Given the description of an element on the screen output the (x, y) to click on. 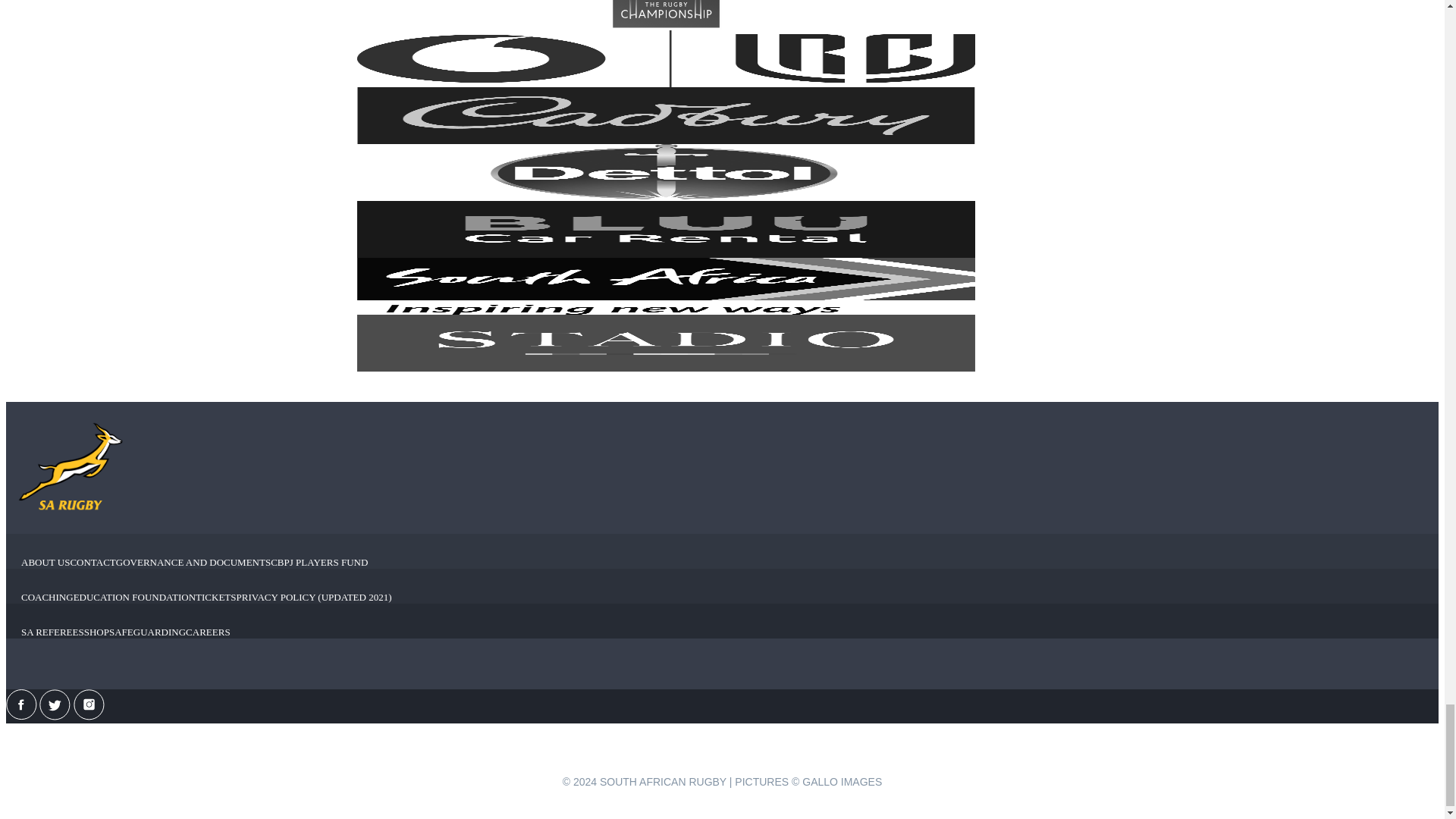
Subscribe (722, 767)
